Given the description of an element on the screen output the (x, y) to click on. 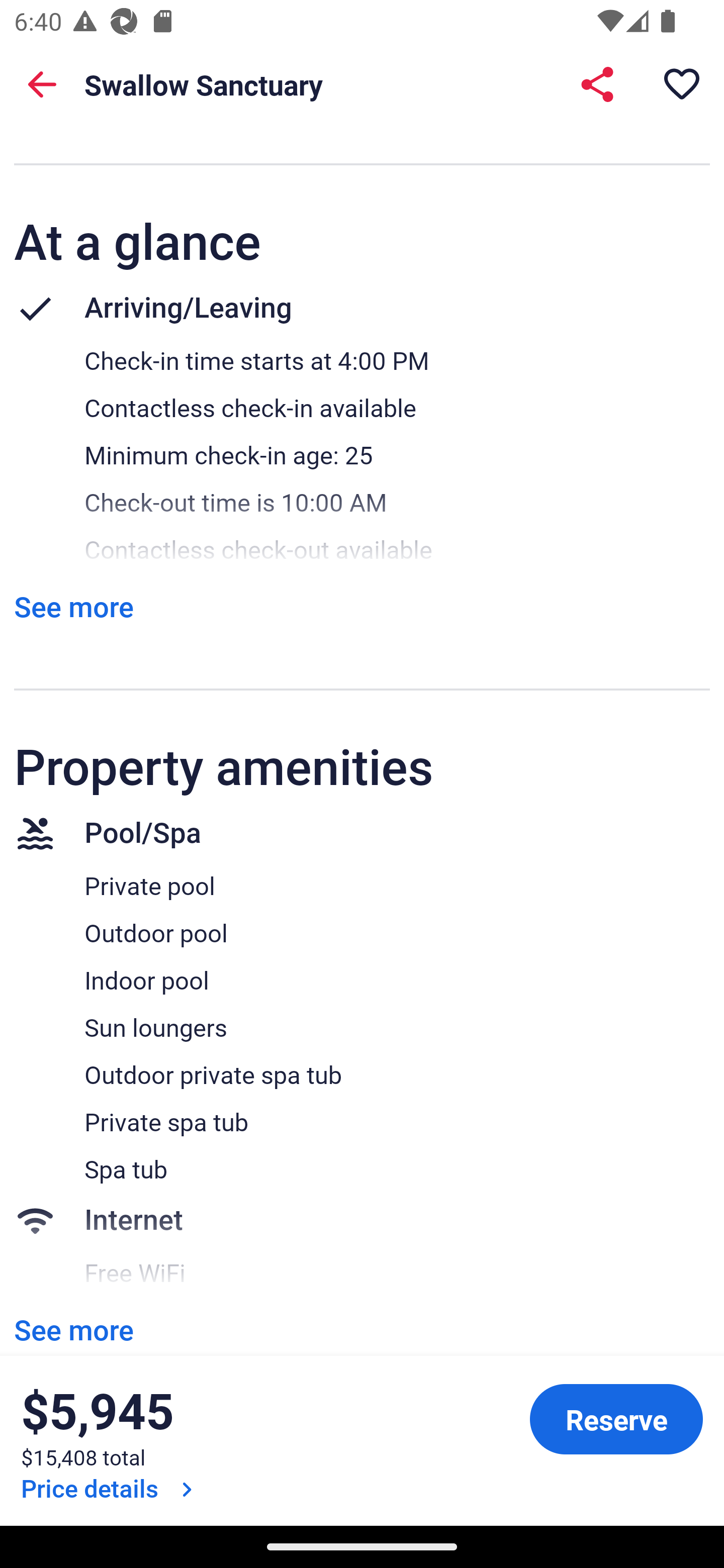
Back (42, 84)
Save property to a trip (681, 84)
Share Swallow Sanctuary (597, 84)
See more See more Link (73, 605)
See more See all property amenities Link (73, 1329)
